Given the description of an element on the screen output the (x, y) to click on. 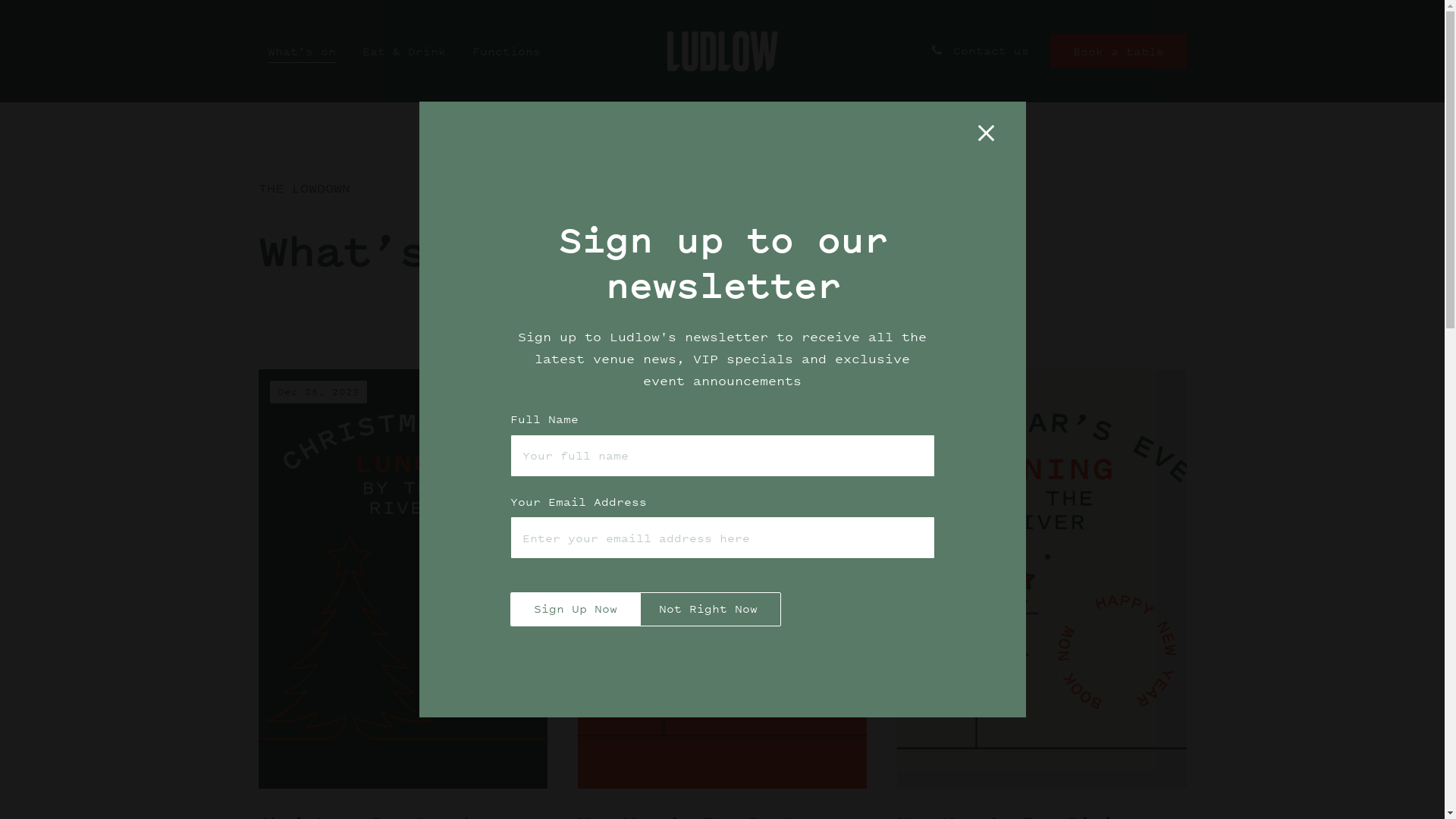
Not Right Now Element type: text (708, 609)
Sign Up Now Element type: text (574, 609)
Functions Element type: text (505, 51)
Eat & Drink Element type: text (403, 51)
Contact us Element type: text (978, 50)
Book a table Element type: text (1117, 51)
Close Element type: text (989, 135)
